Given the description of an element on the screen output the (x, y) to click on. 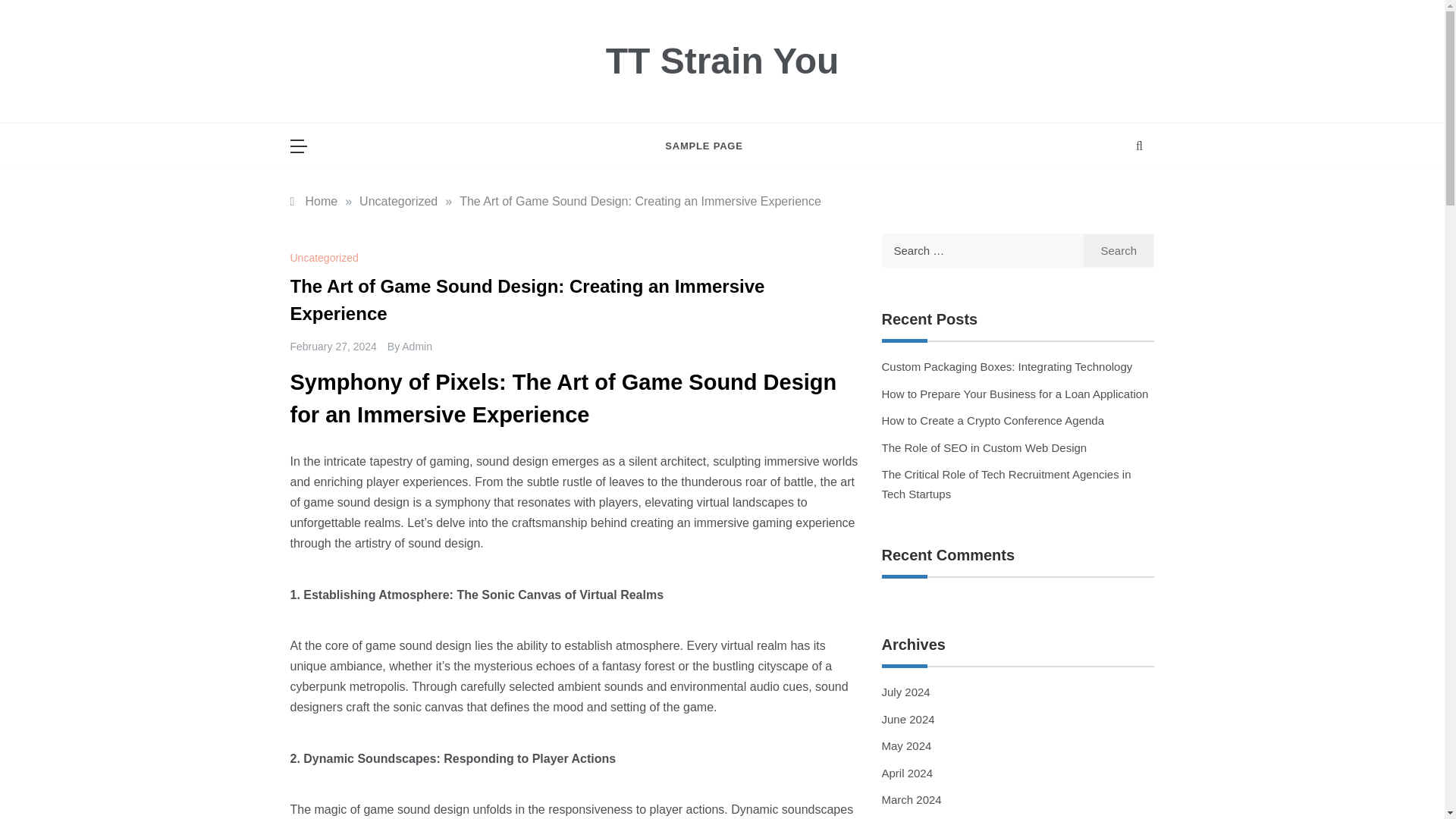
The Role of SEO in Custom Web Design (983, 447)
Search (1118, 250)
June 2024 (907, 718)
Admin (416, 346)
SAMPLE PAGE (703, 145)
March 2024 (910, 799)
Uncategorized (325, 257)
TT Strain You (722, 60)
May 2024 (905, 745)
Search (1118, 250)
How to Create a Crypto Conference Agenda (991, 420)
July 2024 (905, 691)
Custom Packaging Boxes: Integrating Technology (1006, 366)
